Given the description of an element on the screen output the (x, y) to click on. 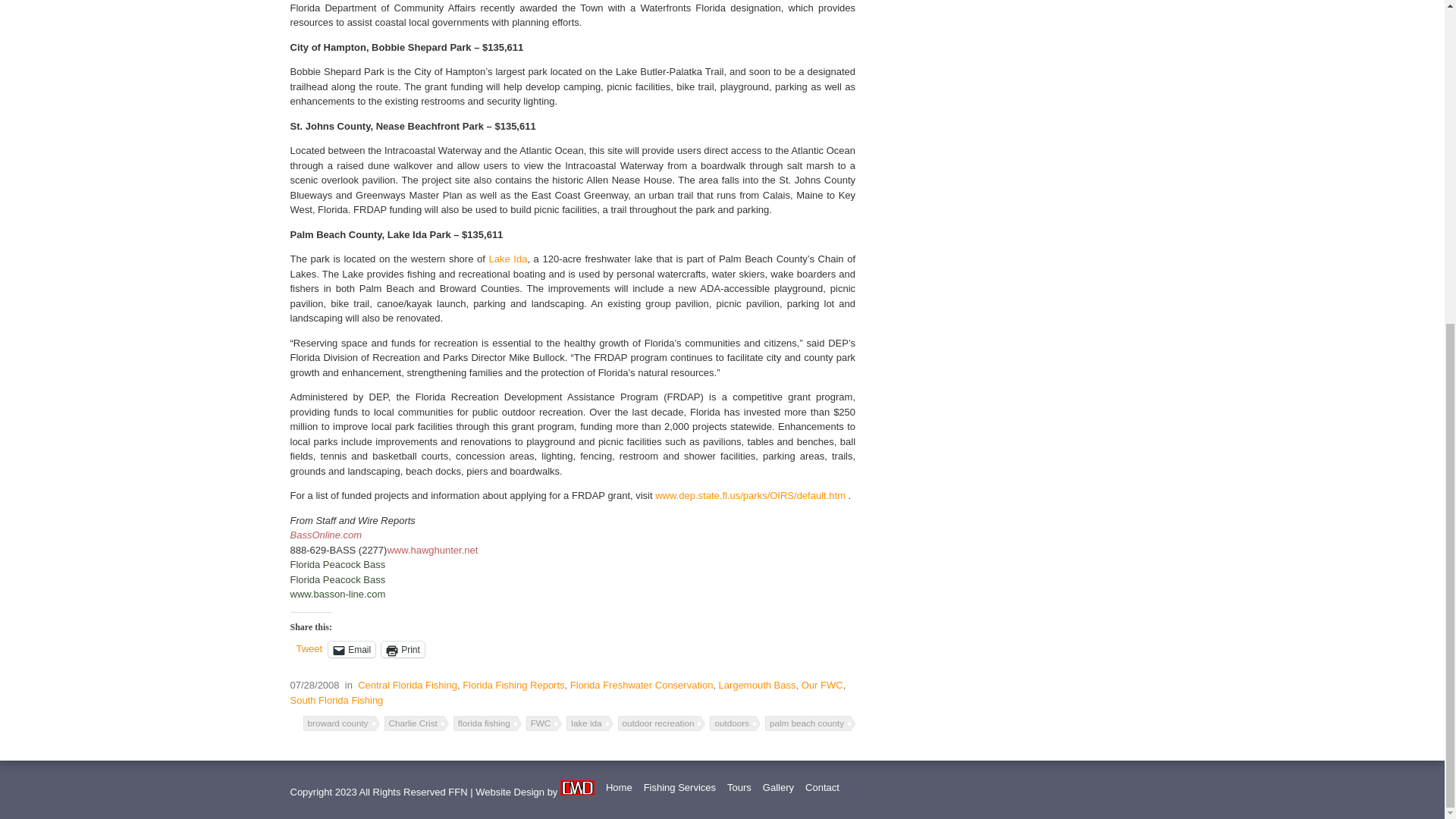
www.basson-line.com (337, 593)
South Florida Fishing (335, 699)
www.hawghunter.net (432, 550)
broward county (341, 723)
Florida Peacock Bass (337, 564)
Print (403, 649)
FWC (543, 723)
Click to print (403, 649)
Florida Freshwater Conservation (641, 685)
Florida Fishing Reports (513, 685)
